Given the description of an element on the screen output the (x, y) to click on. 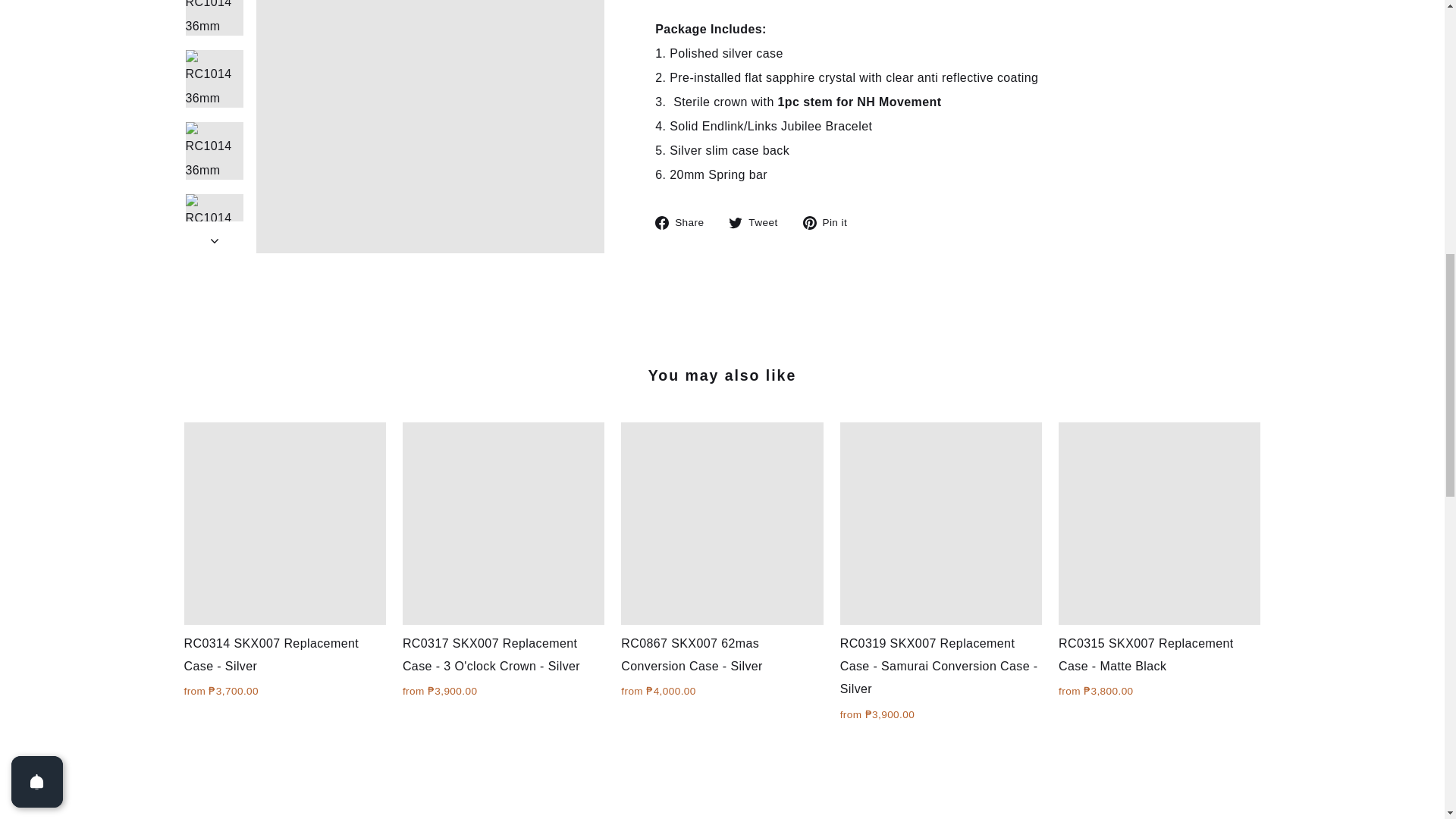
Tweet on Twitter (759, 221)
Share on Facebook (684, 221)
Pin on Pinterest (831, 221)
